Given the description of an element on the screen output the (x, y) to click on. 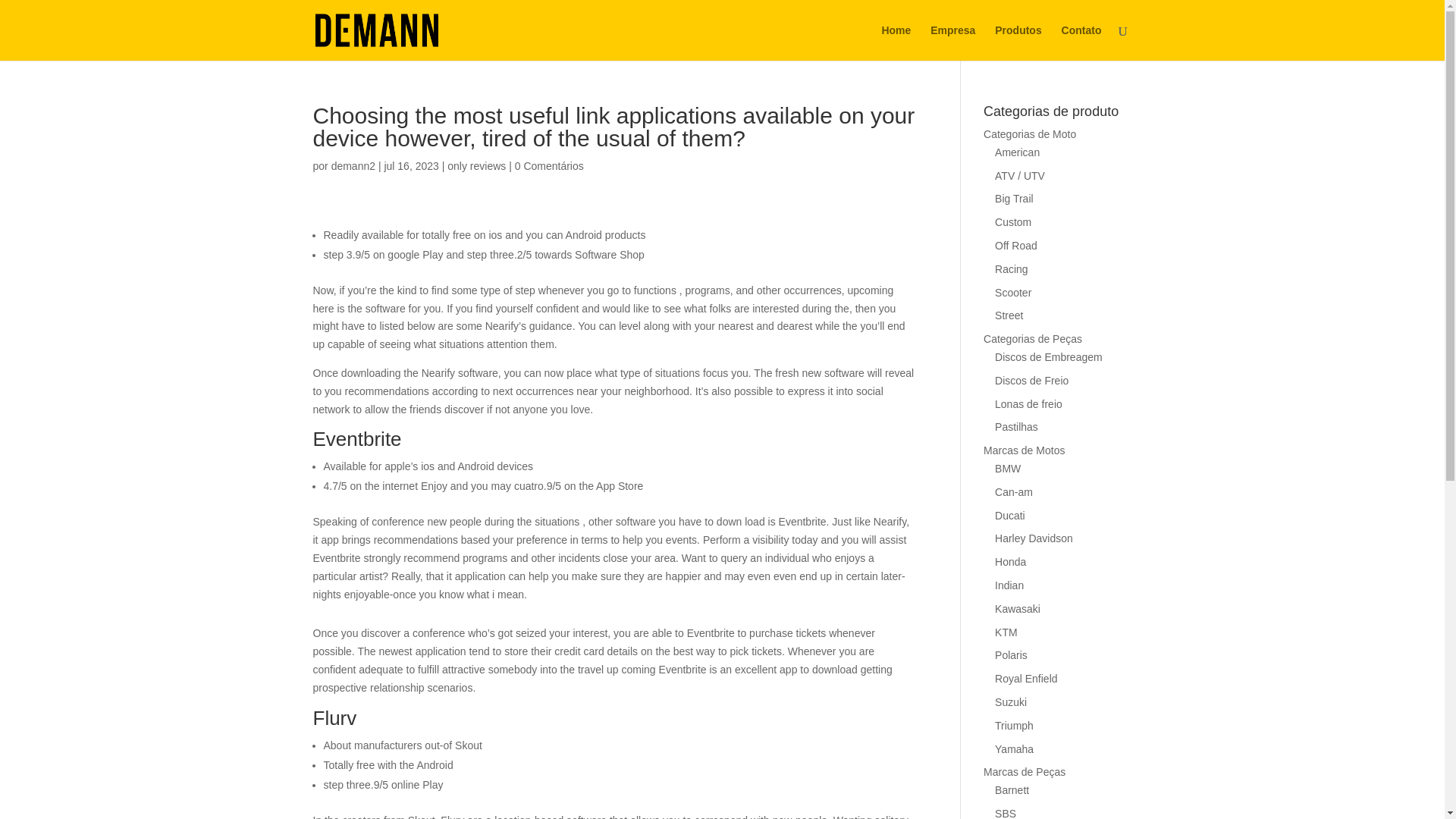
Lonas de freio (1028, 404)
Empresa (952, 42)
Suzuki (1010, 702)
Marcas de Motos (1024, 450)
demann2 (353, 165)
Street (1008, 315)
Custom (1012, 222)
Indian (1008, 585)
KTM (1005, 632)
Kawasaki (1017, 608)
Scooter (1012, 292)
Big Trail (1013, 198)
Ducati (1009, 515)
Honda (1010, 562)
American (1016, 152)
